Given the description of an element on the screen output the (x, y) to click on. 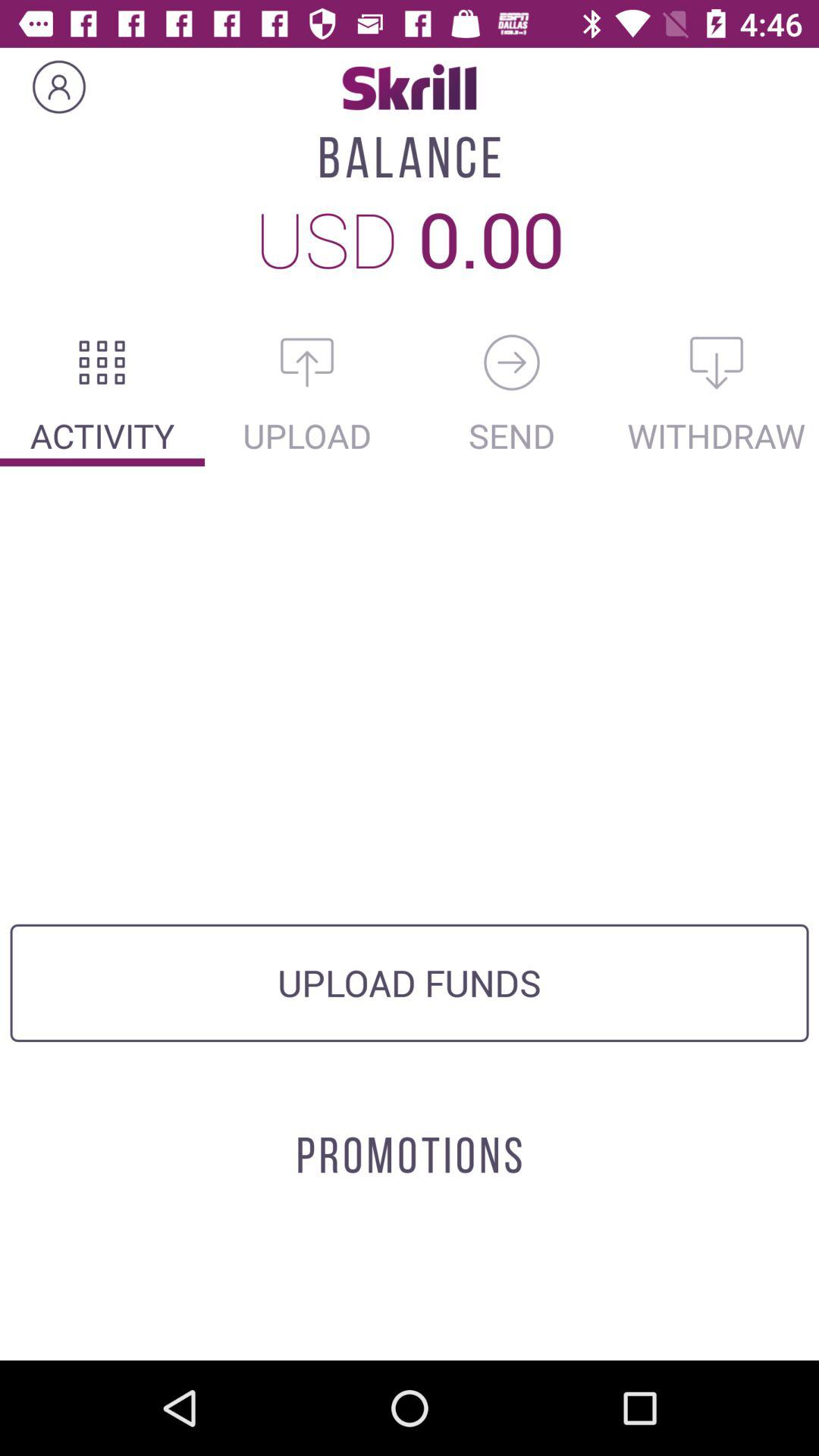
withdraw funds (716, 362)
